Given the description of an element on the screen output the (x, y) to click on. 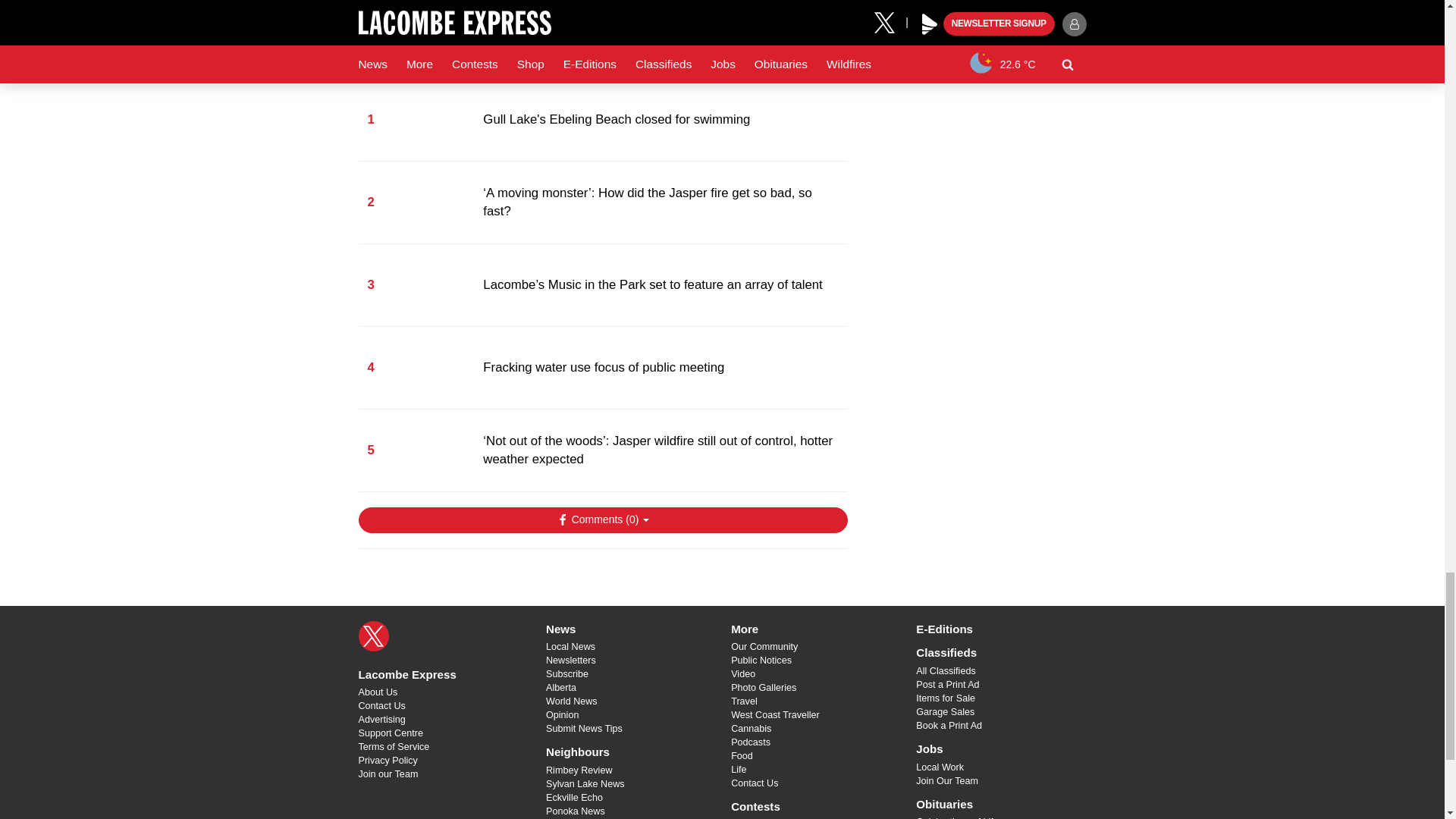
X (373, 635)
Show Comments (602, 519)
